Given the description of an element on the screen output the (x, y) to click on. 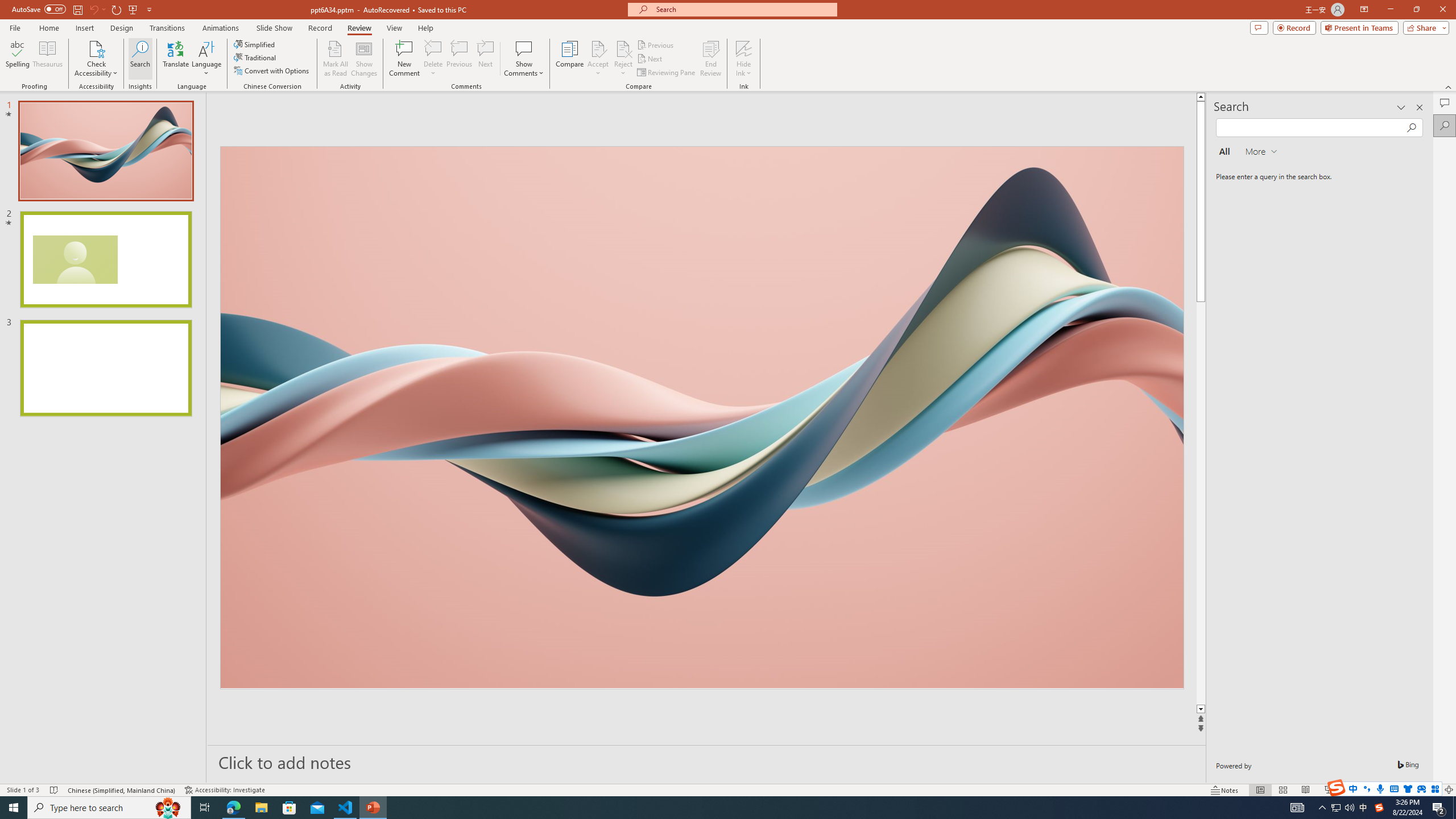
Simplified (254, 44)
Translate (175, 58)
Language (206, 58)
Mark All as Read (335, 58)
End Review (710, 58)
